Given the description of an element on the screen output the (x, y) to click on. 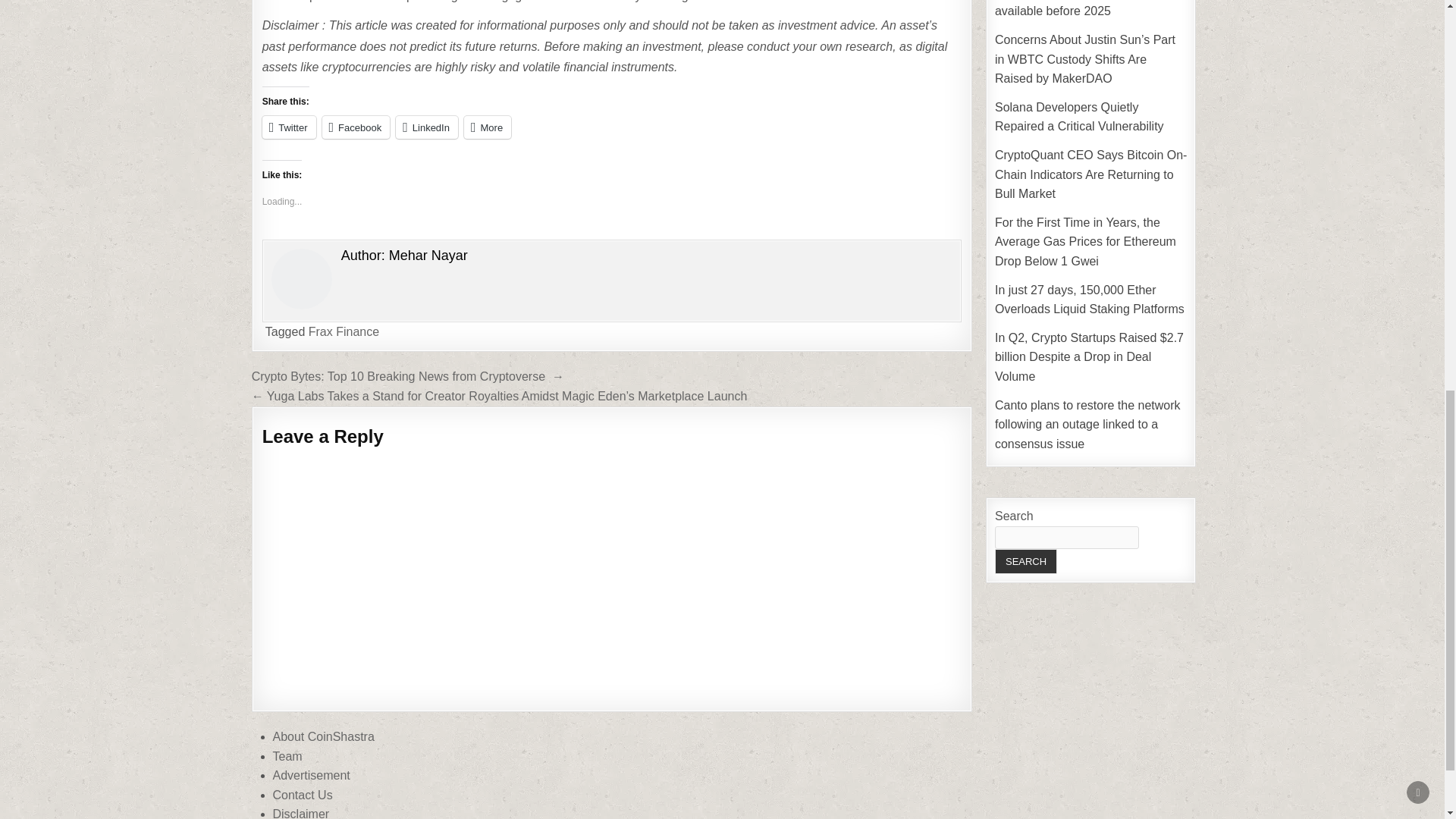
Mehar Nayar (427, 255)
Frax Finance (343, 331)
Click to share on Twitter (288, 127)
More (487, 127)
LinkedIn (427, 127)
Twitter (288, 127)
Facebook (355, 127)
Click to share on Facebook (355, 127)
Click to share on LinkedIn (427, 127)
